Given the description of an element on the screen output the (x, y) to click on. 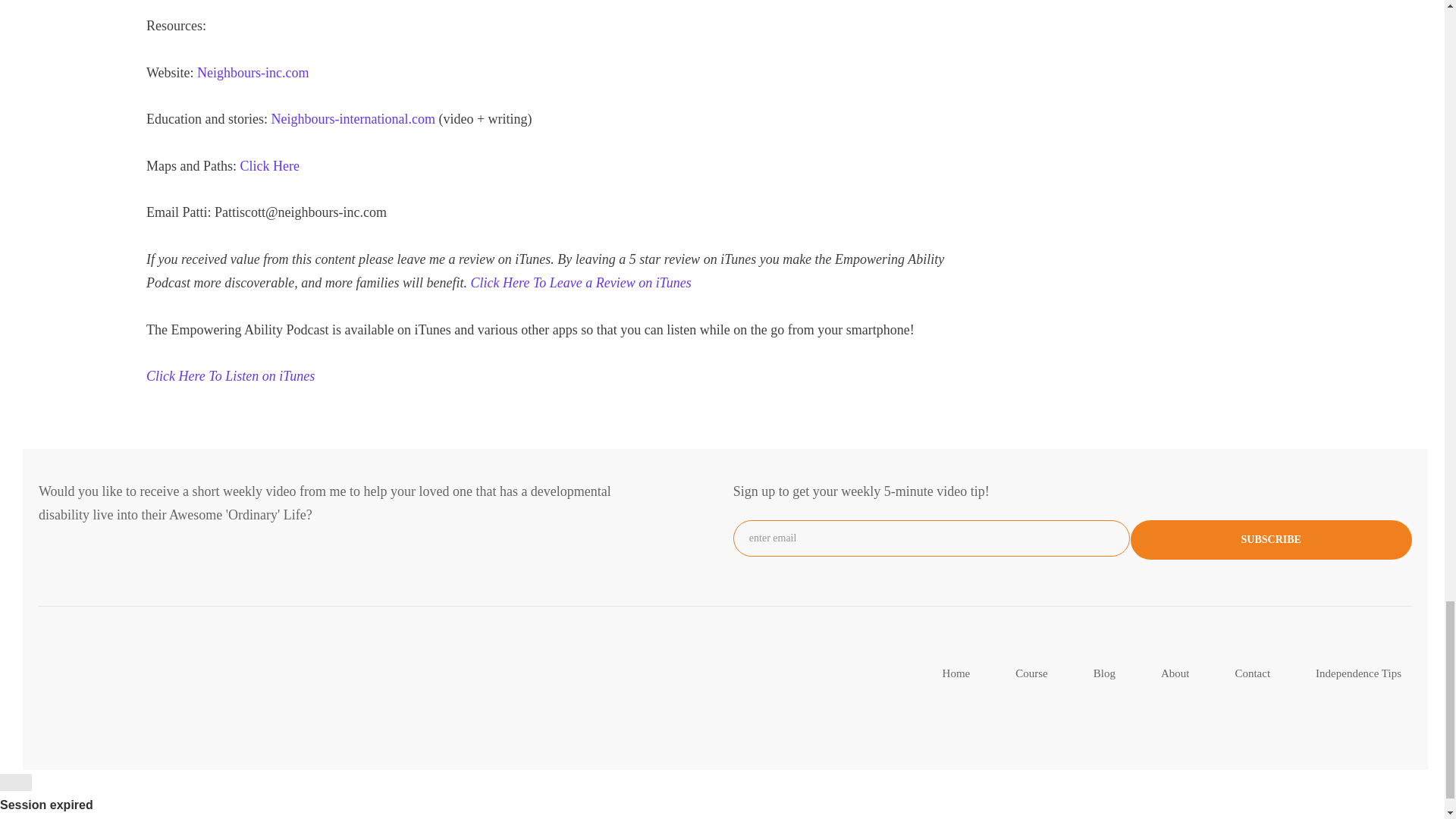
Neighbours-international.com (354, 118)
Click Here To Listen on iTunes (230, 376)
Neighbours-inc.com (252, 72)
Click Here To Leave a Review on iTunes (580, 282)
Click Here (269, 165)
